Given the description of an element on the screen output the (x, y) to click on. 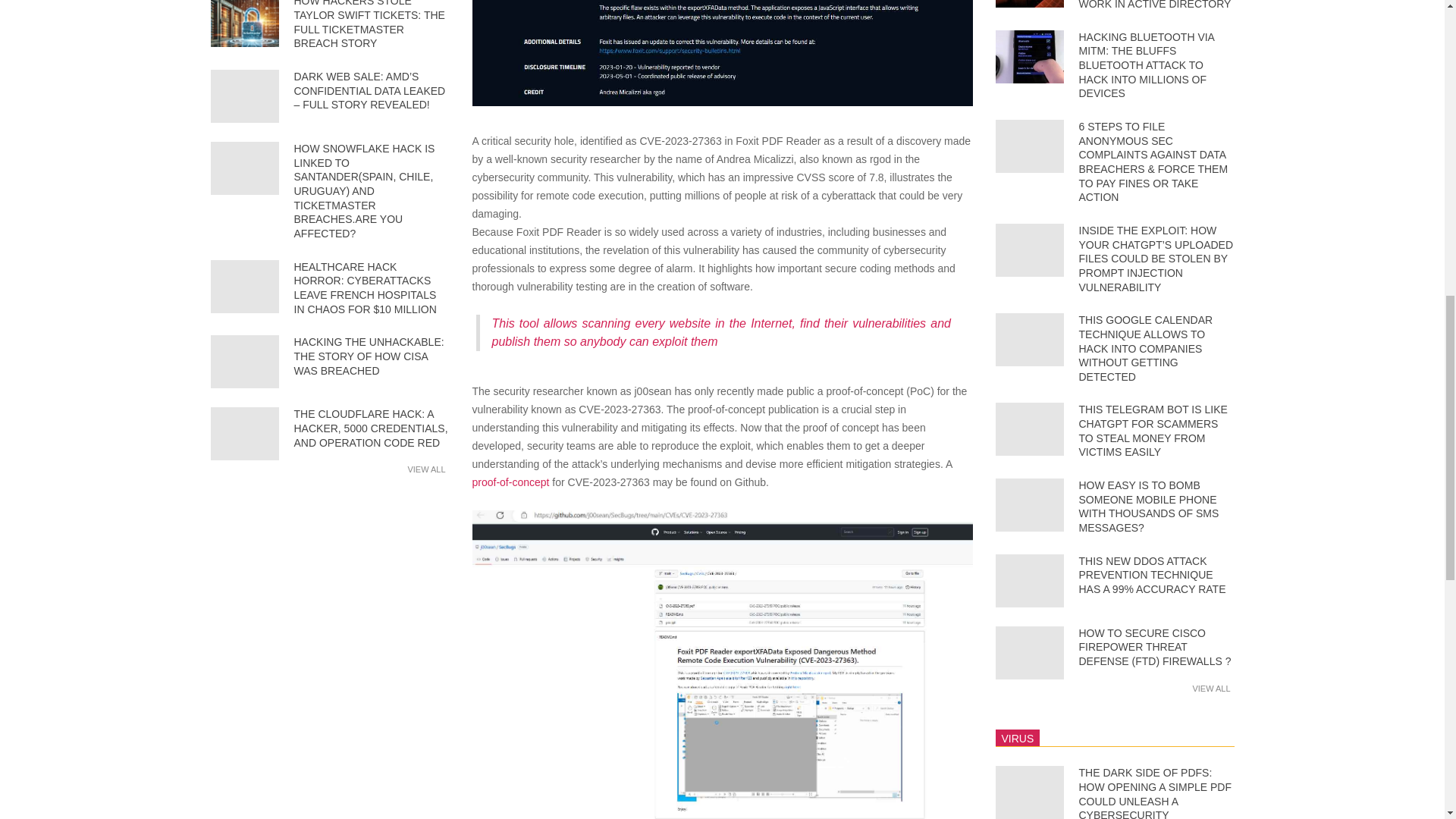
proof-of-concept (509, 481)
